Given the description of an element on the screen output the (x, y) to click on. 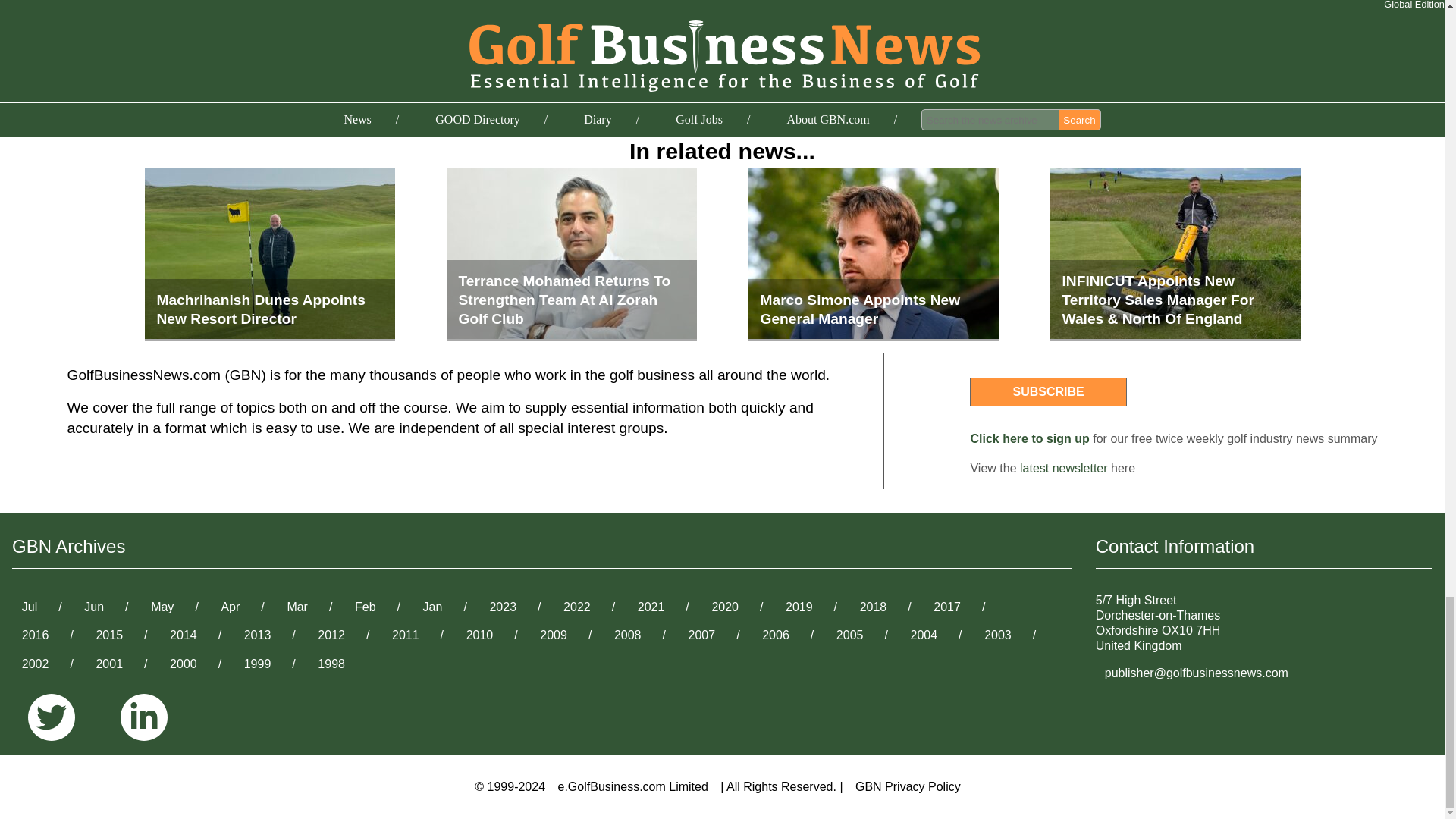
Jul (29, 606)
Share on LinkedIn (998, 24)
Machrihanish Dunes Appoints New Resort Director (269, 254)
Connect with us on LinkedIn (143, 718)
SUBSCRIBE (1047, 391)
Marco Simone Appoints New General Manager (872, 254)
Share on Twitter (993, 1)
Follow us on Twitter (57, 718)
latest newsletter (1064, 468)
Click here to sign up (1029, 438)
Jun (94, 606)
